Given the description of an element on the screen output the (x, y) to click on. 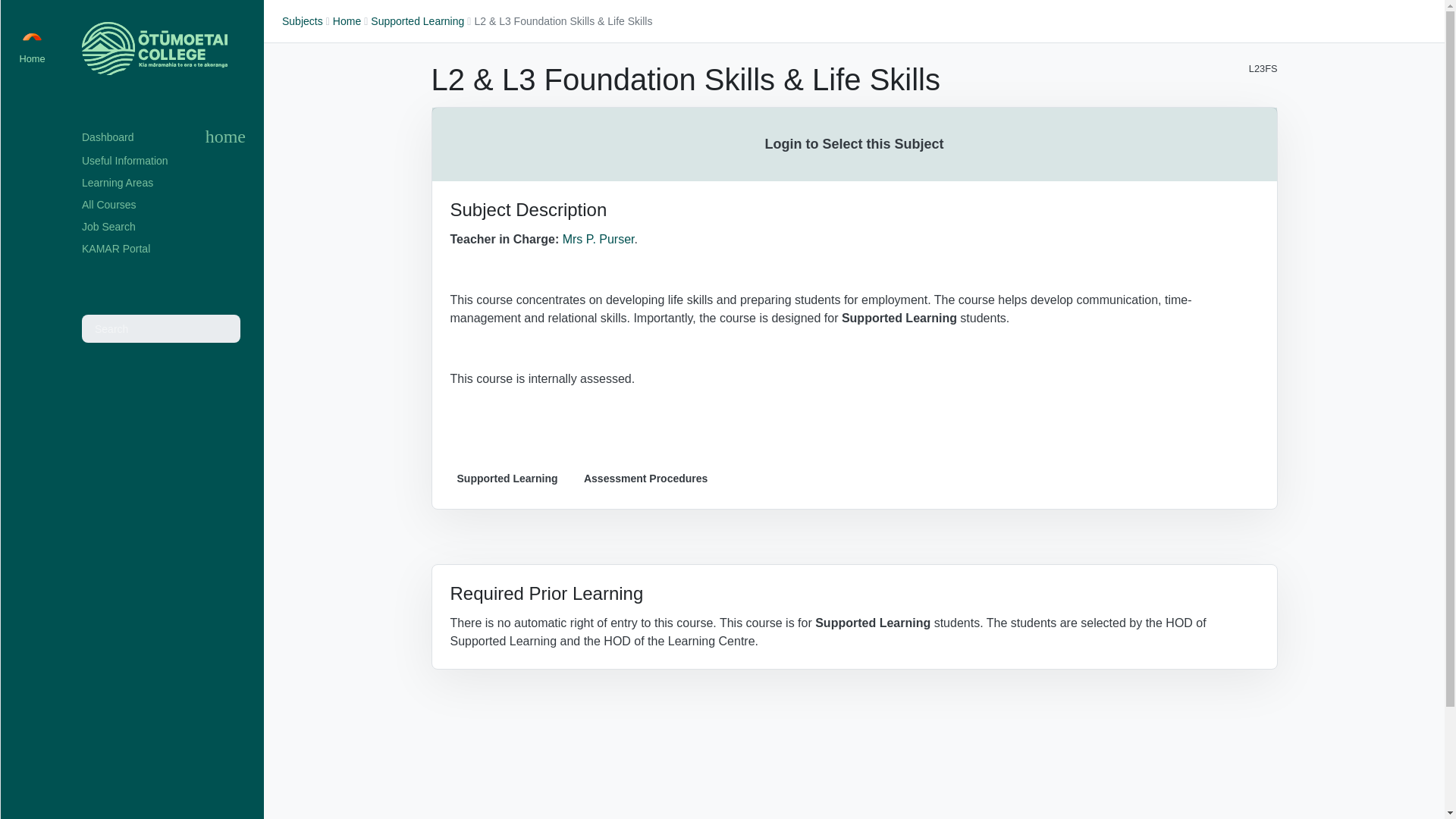
Home (347, 21)
KAMAR Portal (163, 249)
Useful Information (163, 160)
SchoolBridge Dashboard (32, 32)
Assessment Procedures (645, 478)
Home (347, 21)
Learning Areas (163, 182)
Mrs P. Purser (598, 238)
SchoolBridge Dashboard (114, 137)
Otumoetai College (154, 48)
